Given the description of an element on the screen output the (x, y) to click on. 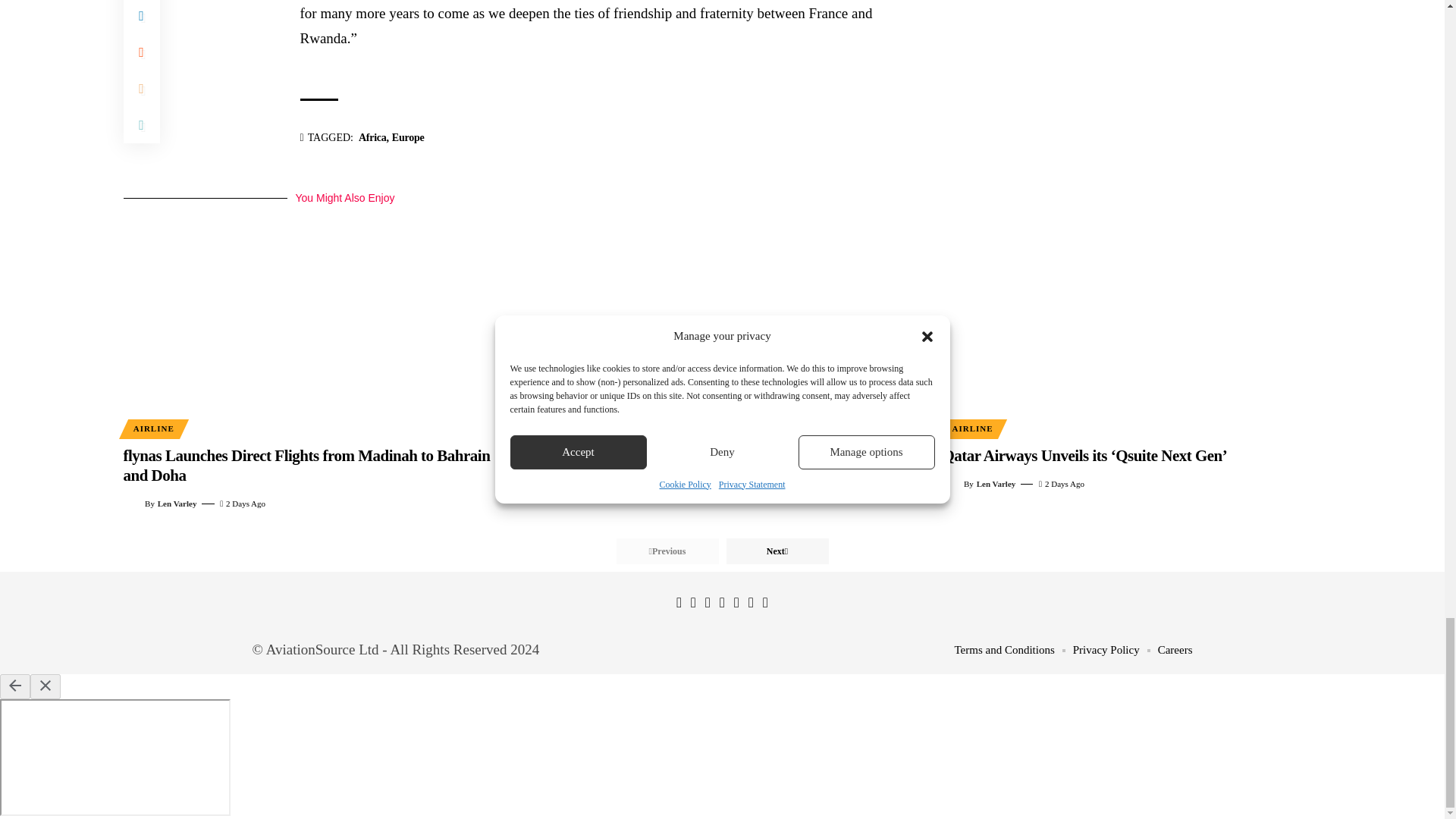
Turkish Airlines Unveils New Crystal Business Class Suite (721, 320)
